Given the description of an element on the screen output the (x, y) to click on. 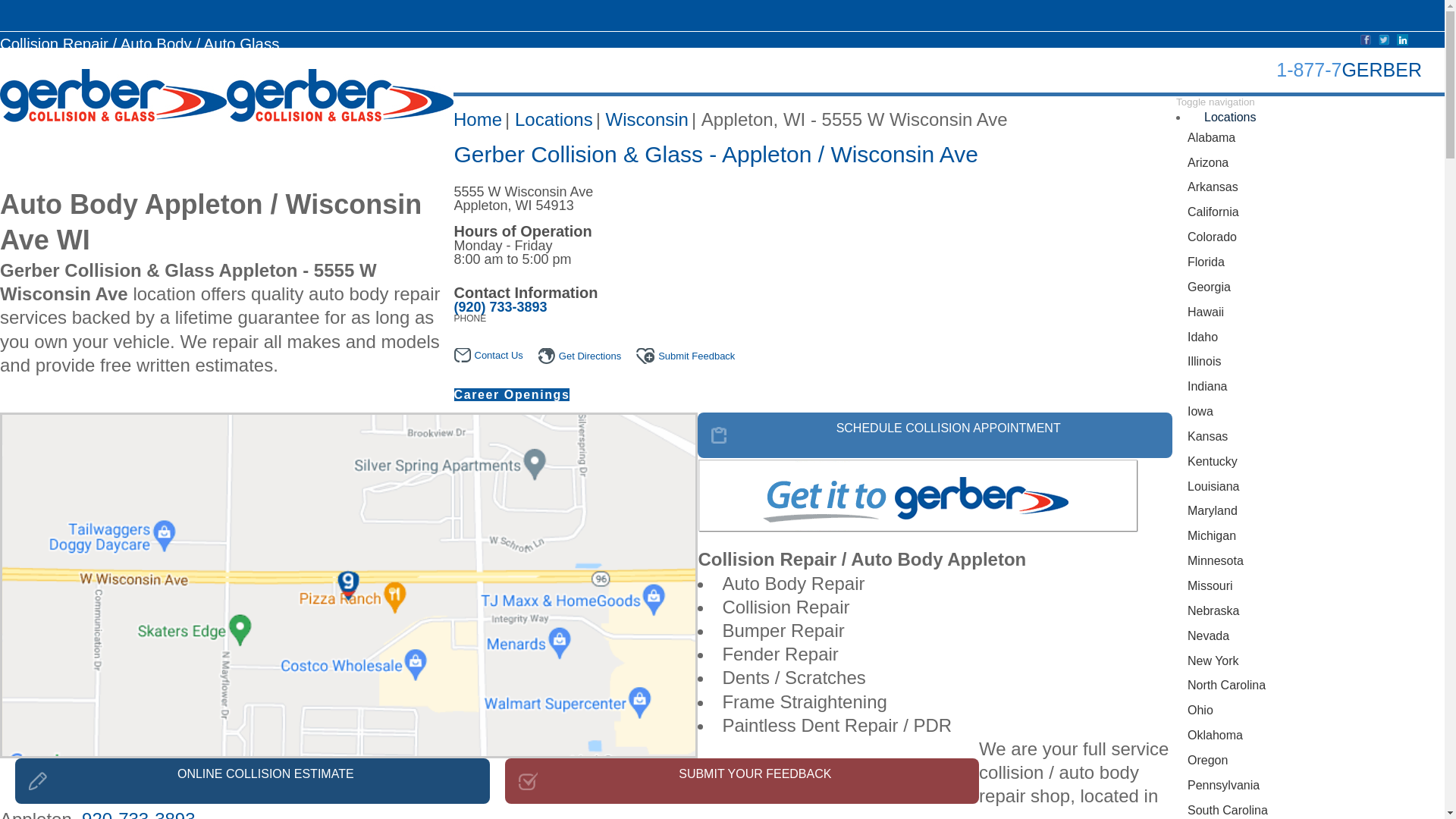
Twitter (1384, 39)
LinkedIn (1401, 39)
Locations (1230, 116)
Facebook (1365, 39)
Toggle navigation (1215, 101)
Appleton Auto Body Repair (917, 494)
920-733-3893 (138, 814)
